Given the description of an element on the screen output the (x, y) to click on. 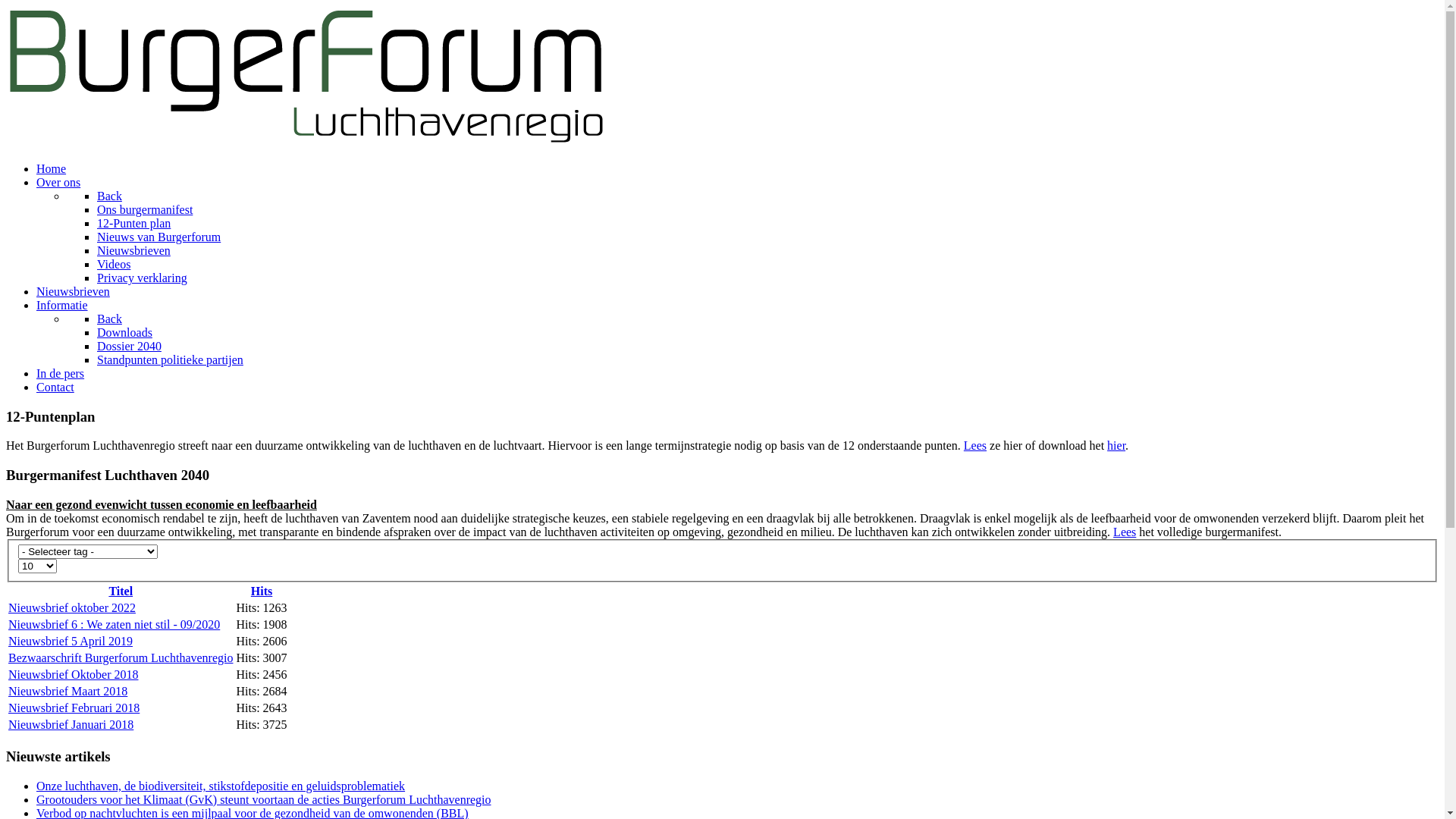
Contact Element type: text (55, 386)
Back Element type: text (109, 318)
BurgerForum Luchthavenregio Element type: hover (307, 142)
Nieuwsbrief 5 April 2019 Element type: text (70, 640)
Nieuwsbrief 6 : We zaten niet stil - 09/2020 Element type: text (113, 624)
Downloads Element type: text (124, 332)
Nieuwsbrief Oktober 2018 Element type: text (73, 674)
Standpunten politieke partijen Element type: text (170, 359)
Home Element type: text (50, 168)
Bezwaarschrift Burgerforum Luchthavenregio Element type: text (120, 657)
Informatie Element type: text (61, 304)
Nieuwsbrief Januari 2018 Element type: text (70, 724)
hier Element type: text (1116, 445)
Lees Element type: text (974, 445)
Titel Element type: text (120, 590)
Nieuwsbrief Februari 2018 Element type: text (73, 707)
Nieuwsbrief Maart 2018 Element type: text (67, 690)
Ons burgermanifest Element type: text (144, 209)
Back Element type: text (109, 195)
Privacy verklaring Element type: text (142, 277)
Nieuws van Burgerforum Element type: text (158, 236)
Lees Element type: text (1124, 531)
Nieuwsbrieven Element type: text (133, 250)
12-Punten plan Element type: text (133, 222)
Nieuwsbrief oktober 2022 Element type: text (71, 607)
Nieuwsbrieven Element type: text (72, 291)
In de pers Element type: text (60, 373)
Dossier 2040 Element type: text (129, 345)
Over ons Element type: text (58, 181)
Hits Element type: text (261, 590)
Videos Element type: text (113, 263)
